Given the description of an element on the screen output the (x, y) to click on. 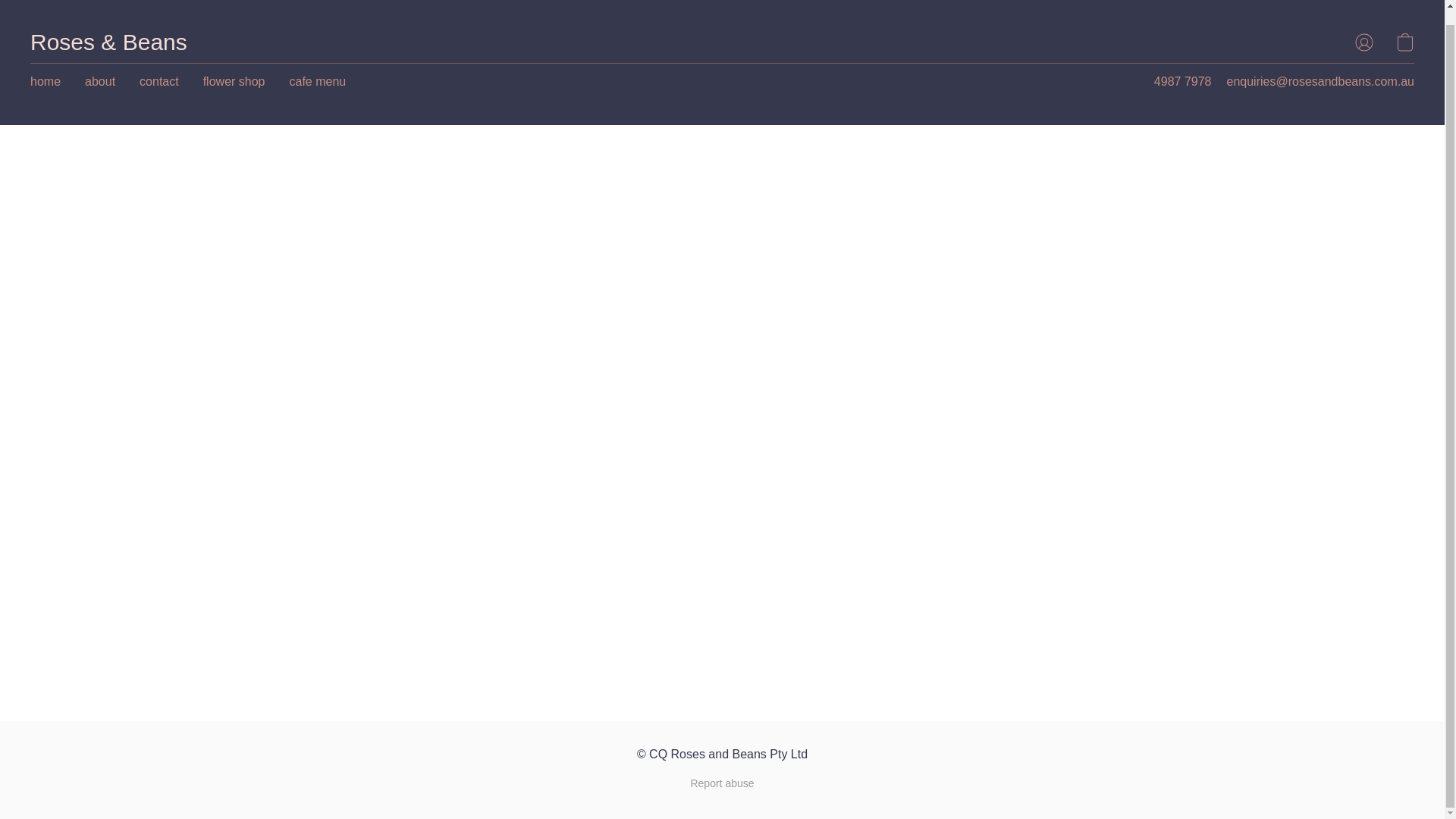
Report abuse (722, 782)
flower shop (233, 81)
cafe menu (317, 81)
contact (159, 81)
4987 7978 (1182, 81)
Go to your shopping cart (1404, 41)
